Given the description of an element on the screen output the (x, y) to click on. 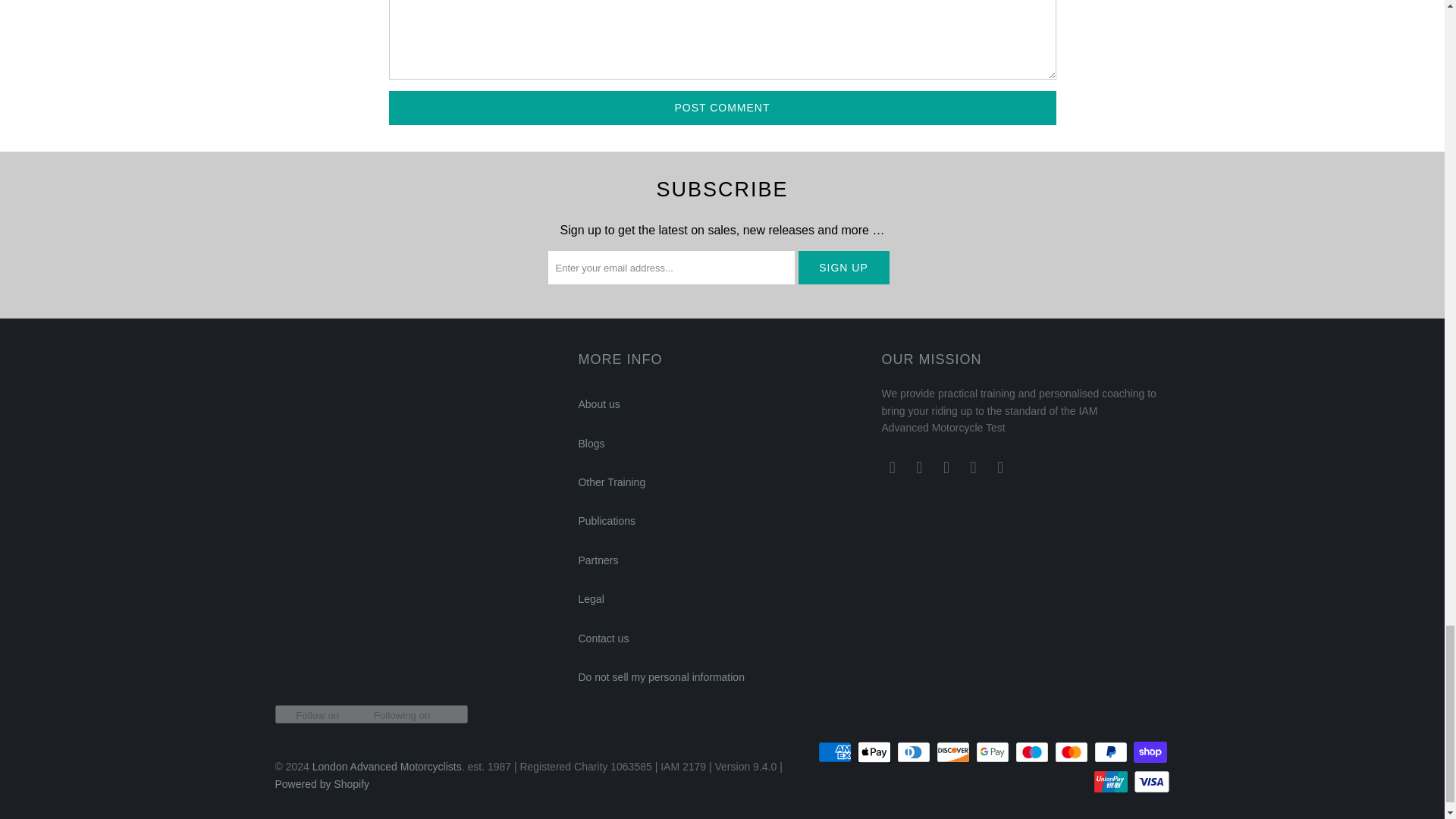
London Advanced Motorcyclists on Discord (892, 467)
PayPal (1112, 752)
Maestro (1032, 752)
London Advanced Motorcyclists on Twitter (1000, 467)
Post comment (721, 107)
London Advanced Motorcyclists on Instagram (973, 467)
Email London Advanced Motorcyclists (919, 467)
Mastercard (1072, 752)
Diners Club (914, 752)
Shop Pay (1150, 752)
Visa (1150, 781)
Google Pay (993, 752)
American Express (836, 752)
Union Pay (1112, 781)
Discover (954, 752)
